Given the description of an element on the screen output the (x, y) to click on. 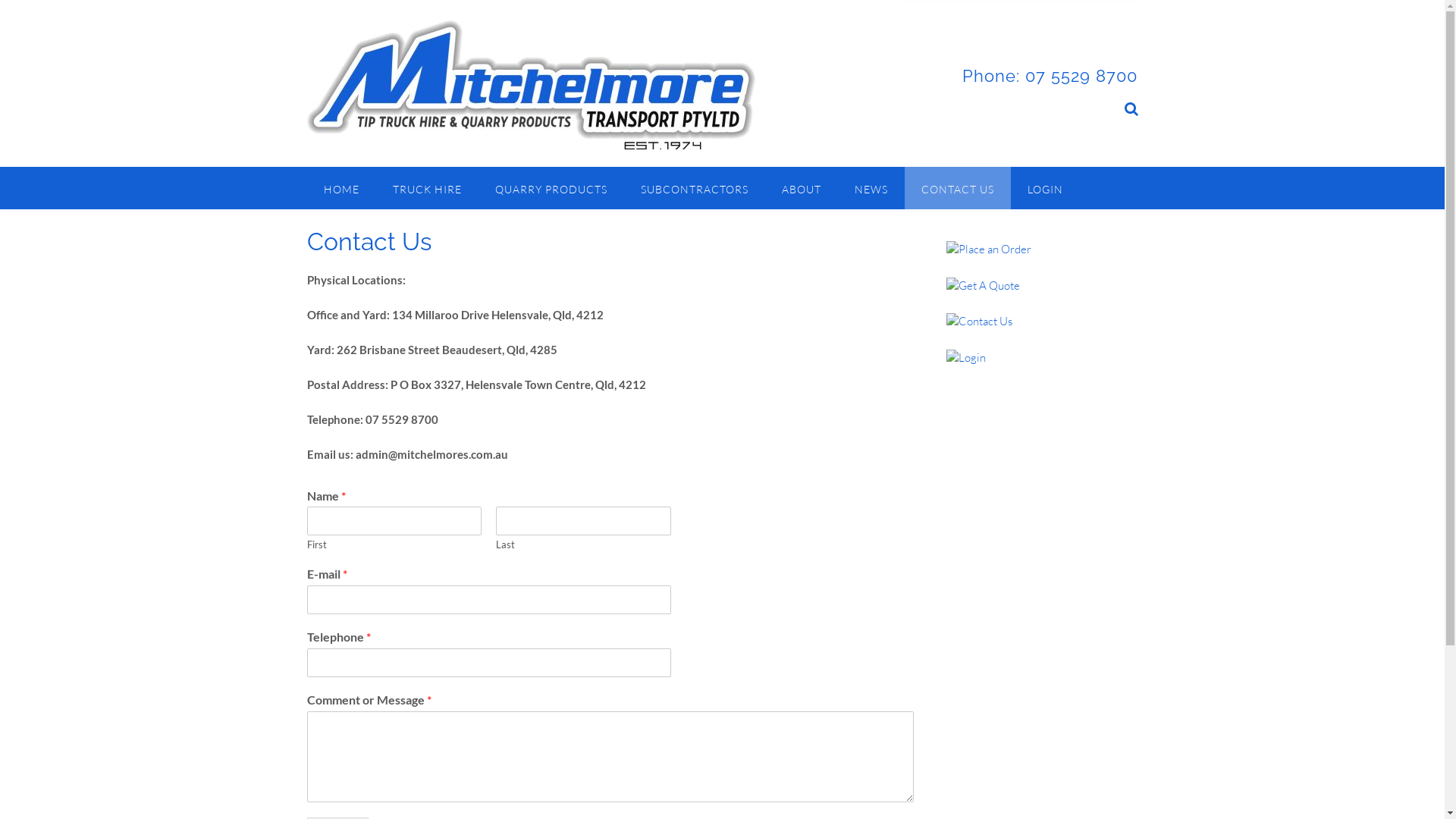
QUARRY PRODUCTS Element type: text (550, 187)
CONTACT US Element type: text (956, 187)
ABOUT Element type: text (800, 187)
SUBCONTRACTORS Element type: text (693, 187)
Search our website Element type: hover (1130, 108)
Place an Order Element type: hover (988, 248)
Login Element type: hover (965, 357)
HOME Element type: text (340, 187)
TRUCK HIRE Element type: text (427, 187)
Contact Us Element type: hover (979, 320)
LOGIN Element type: text (1044, 187)
Get A Quote Element type: hover (982, 284)
NEWS Element type: text (870, 187)
